Given the description of an element on the screen output the (x, y) to click on. 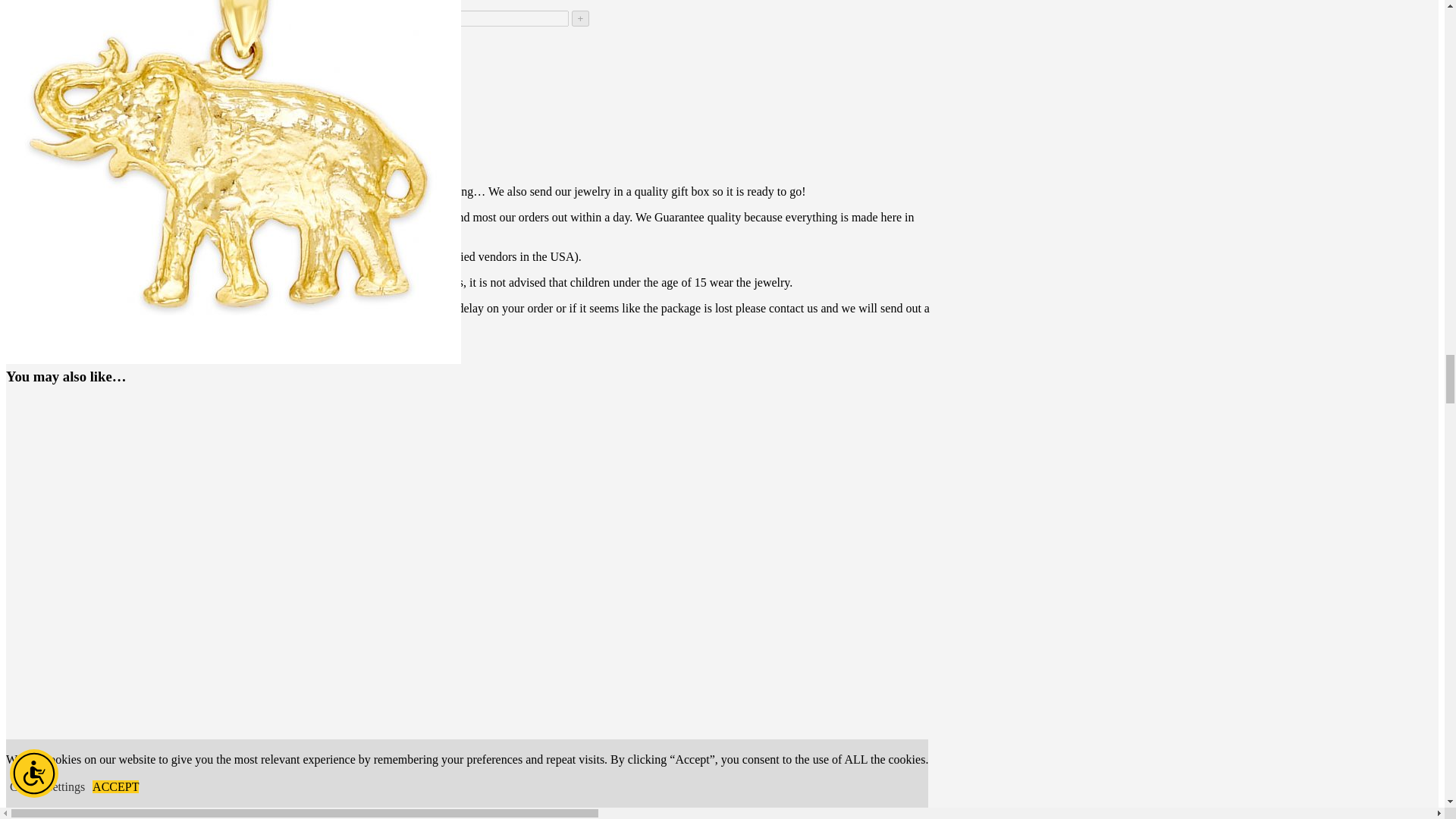
- (13, 18)
1 (501, 18)
